Given the description of an element on the screen output the (x, y) to click on. 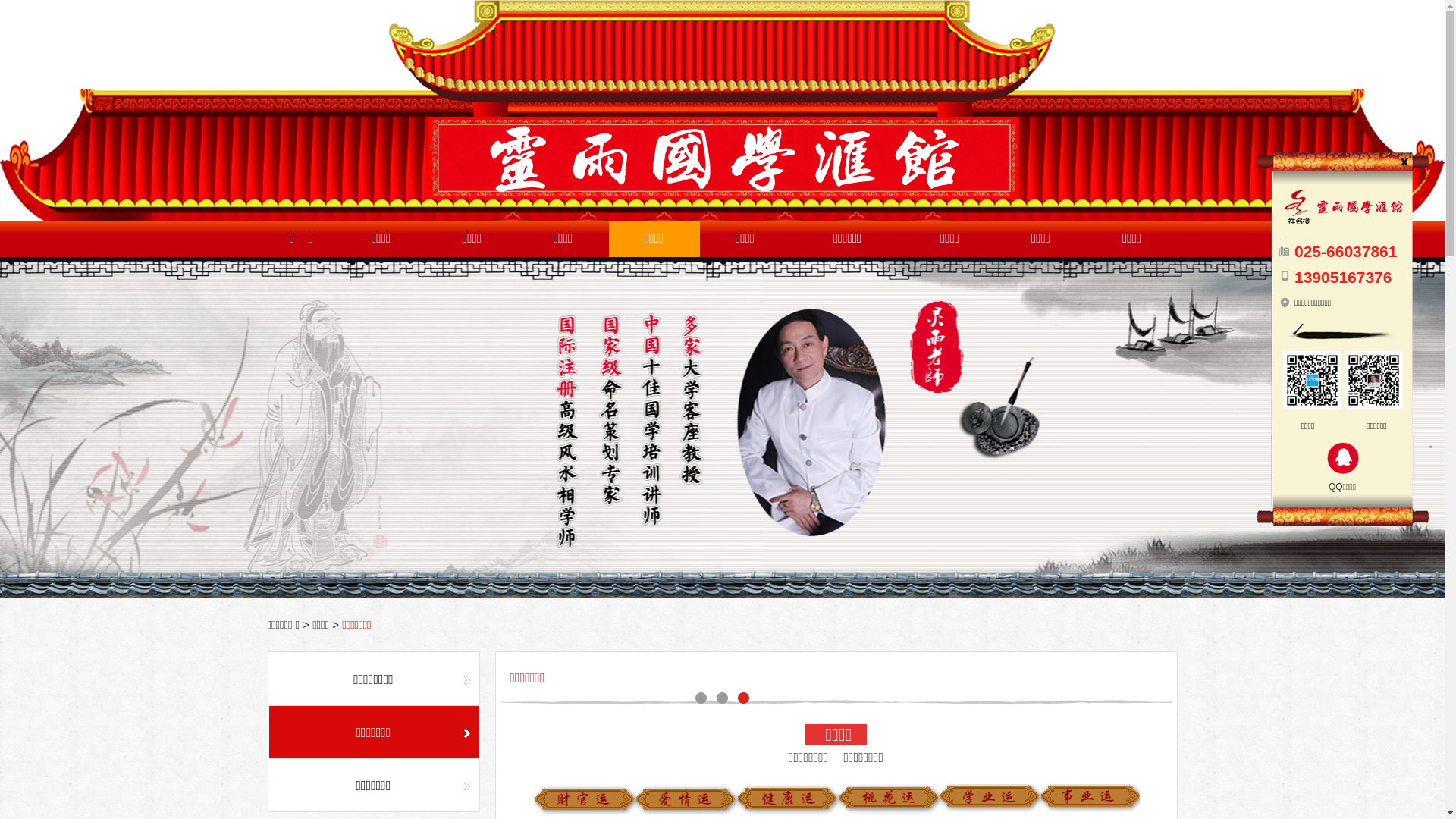
1 Element type: hover (722, 427)
